Given the description of an element on the screen output the (x, y) to click on. 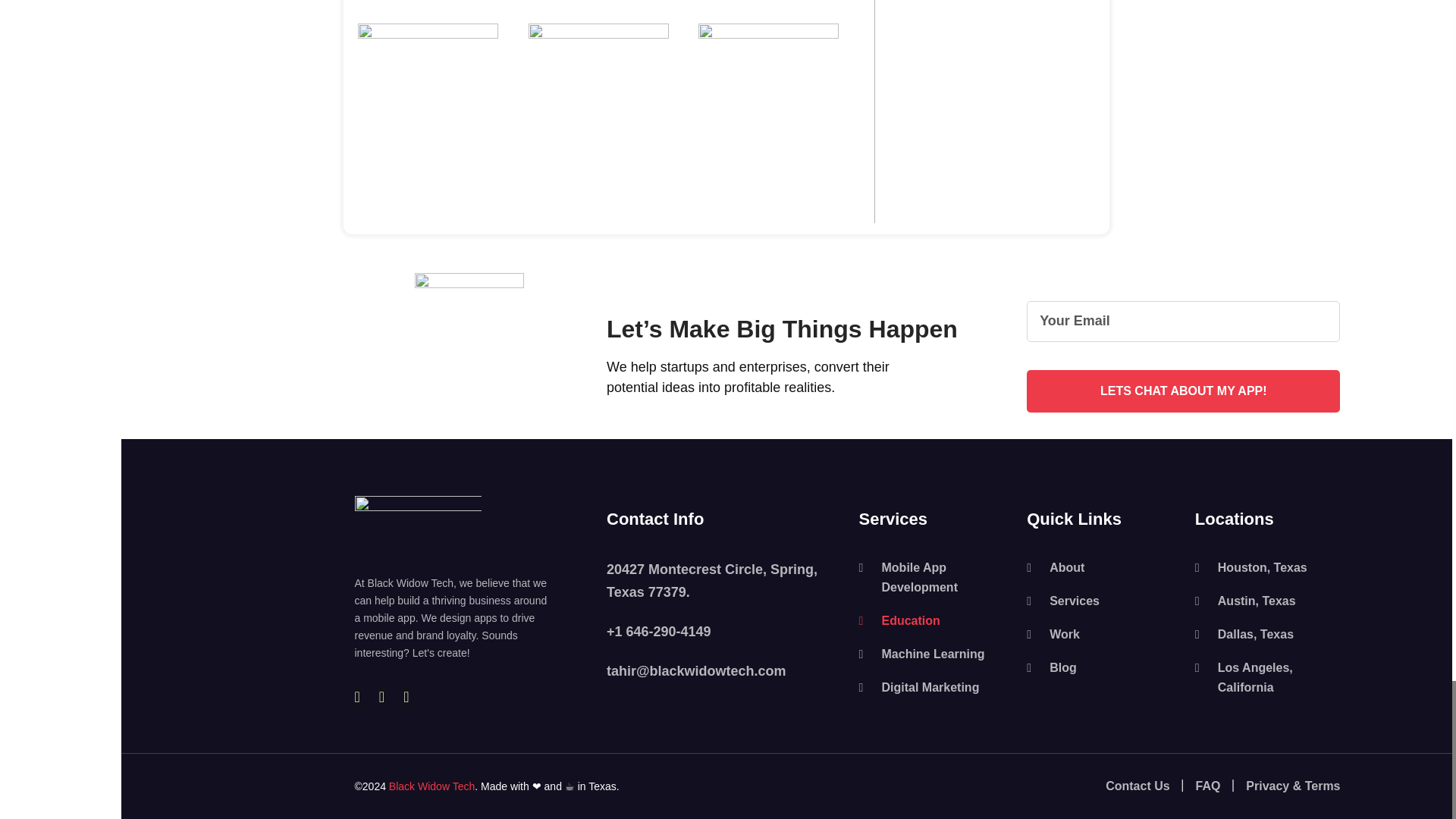
Machine Learning (931, 654)
Services (1099, 600)
Digital Marketing (931, 687)
Mobile App Development (931, 577)
LETS CHAT ABOUT MY APP! (1182, 391)
LETS CHAT ABOUT MY APP! (1182, 391)
Work (1099, 634)
Education (931, 620)
About (1099, 567)
